Given the description of an element on the screen output the (x, y) to click on. 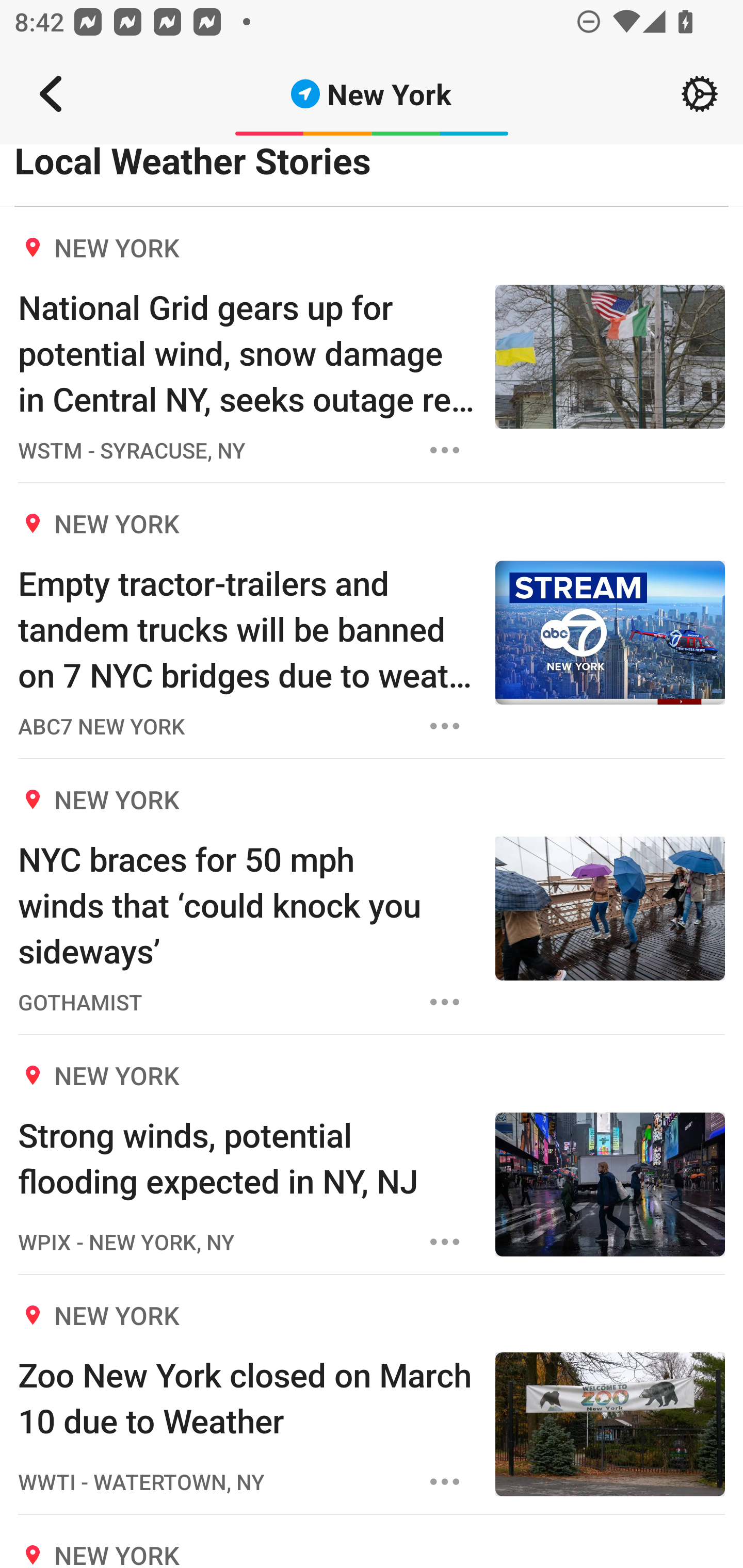
Navigate up (50, 93)
Setting (699, 93)
Options (444, 449)
Options (444, 725)
Options (444, 1001)
Options (444, 1241)
Options (444, 1481)
